Given the description of an element on the screen output the (x, y) to click on. 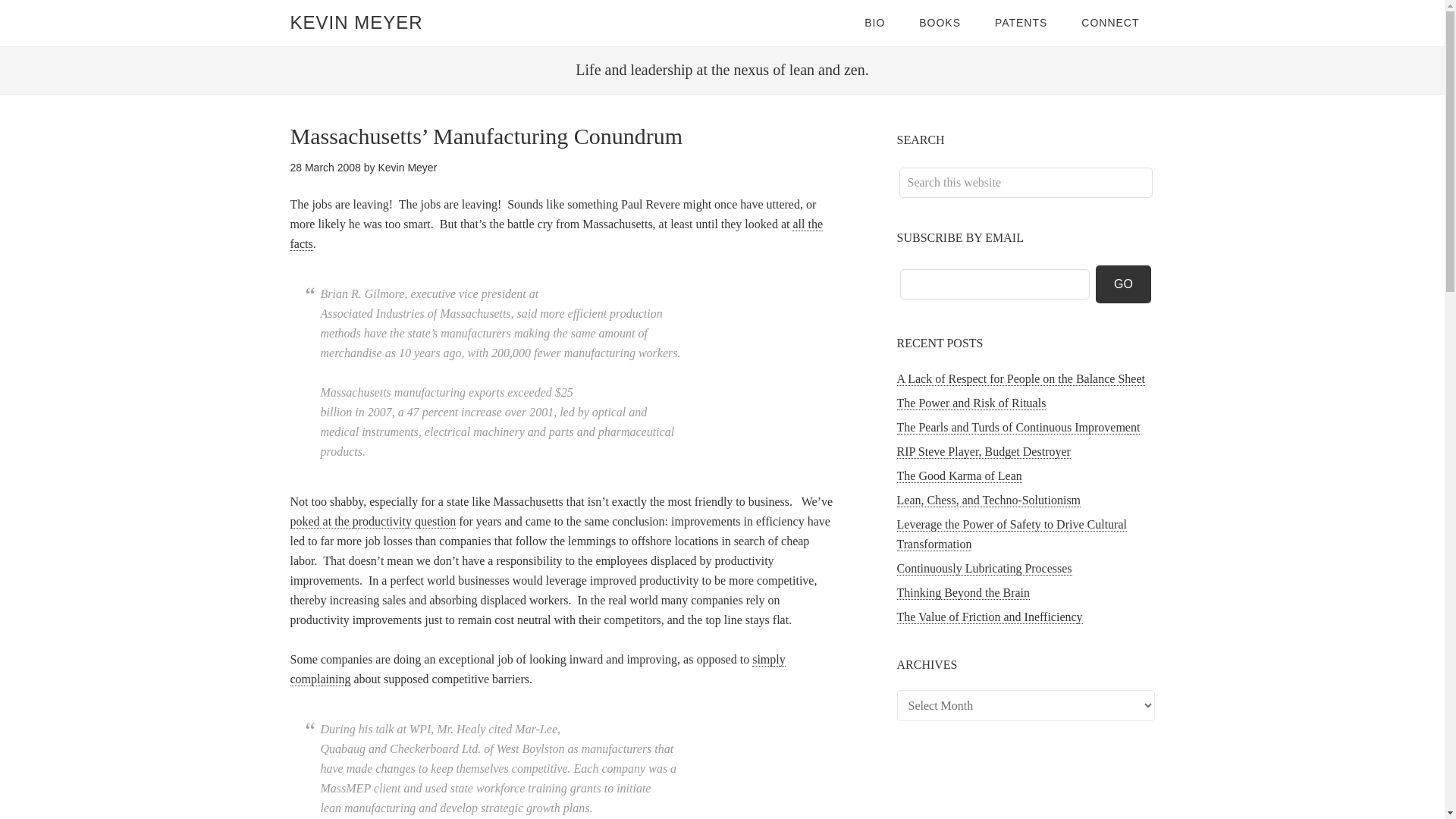
all the facts (555, 233)
The Pearls and Turds of Continuous Improvement (1018, 427)
CONNECT (1109, 22)
BIO (873, 22)
Kevin Meyer (406, 167)
RIP Steve Player, Budget Destroyer (983, 451)
simply complaining (536, 669)
A Lack of Respect for People on the Balance Sheet (1020, 378)
